Given the description of an element on the screen output the (x, y) to click on. 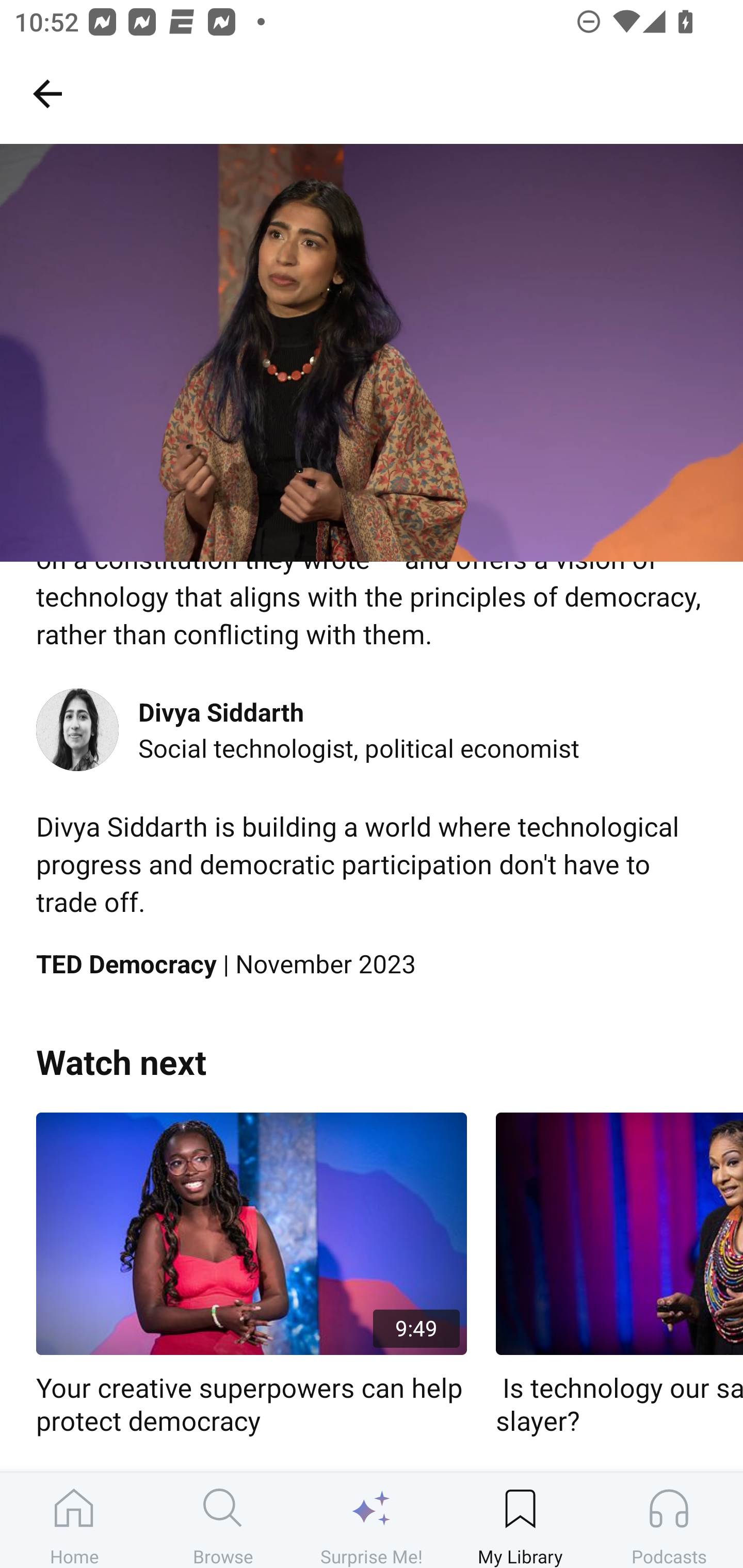
My Library, back (47, 92)
 Is technology our savior — or our slayer? (619, 1275)
Home (74, 1520)
Browse (222, 1520)
Surprise Me! (371, 1520)
My Library (519, 1520)
Podcasts (668, 1520)
